Given the description of an element on the screen output the (x, y) to click on. 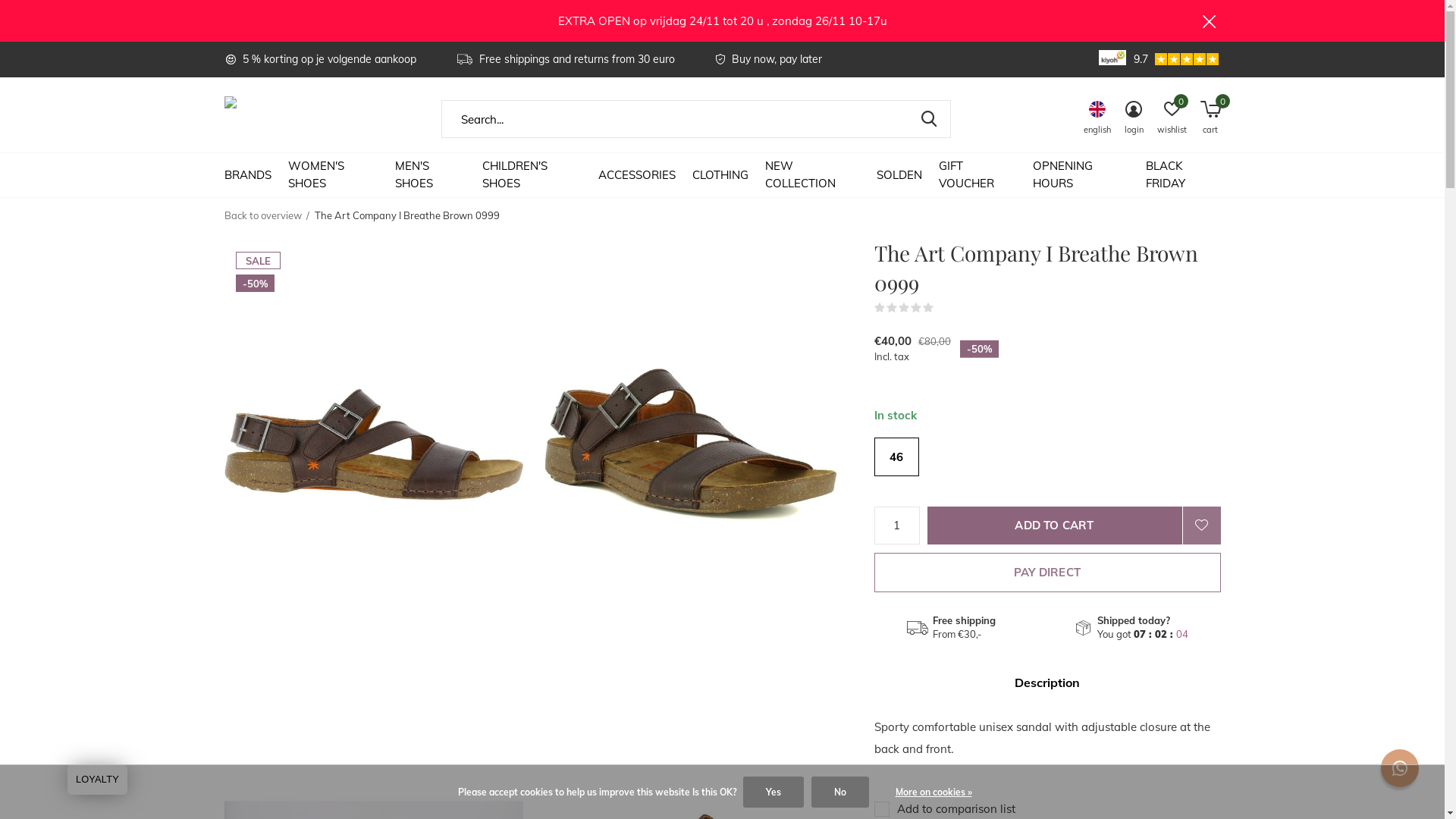
cart
0 Element type: text (1209, 119)
login Element type: text (1132, 119)
LOYALTY Element type: text (97, 779)
46 Element type: text (895, 456)
BRANDS Element type: text (247, 174)
PAY DIRECT Element type: text (1046, 572)
CHILDREN'S SHOES Element type: text (531, 174)
BLACK FRIDAY Element type: text (1182, 174)
wishlist
0 Element type: text (1171, 119)
9.7 Element type: text (1176, 59)
Description Element type: text (1046, 682)
OPNENING HOURS Element type: text (1080, 174)
NEW COLLECTION Element type: text (812, 174)
WOMEN'S SHOES Element type: text (333, 174)
ADD TO CART Element type: text (1053, 525)
GIFT VOUCHER Element type: text (977, 174)
(0) Element type: text (943, 307)
Back to overview Element type: text (262, 215)
english Element type: text (1096, 119)
MEN'S SHOES Element type: text (430, 174)
ACCESSORIES Element type: text (636, 174)
SOLDEN Element type: text (899, 174)
No Element type: text (840, 791)
SEARCH Element type: text (929, 119)
Yes Element type: text (773, 791)
CLOTHING Element type: text (720, 174)
